Given the description of an element on the screen output the (x, y) to click on. 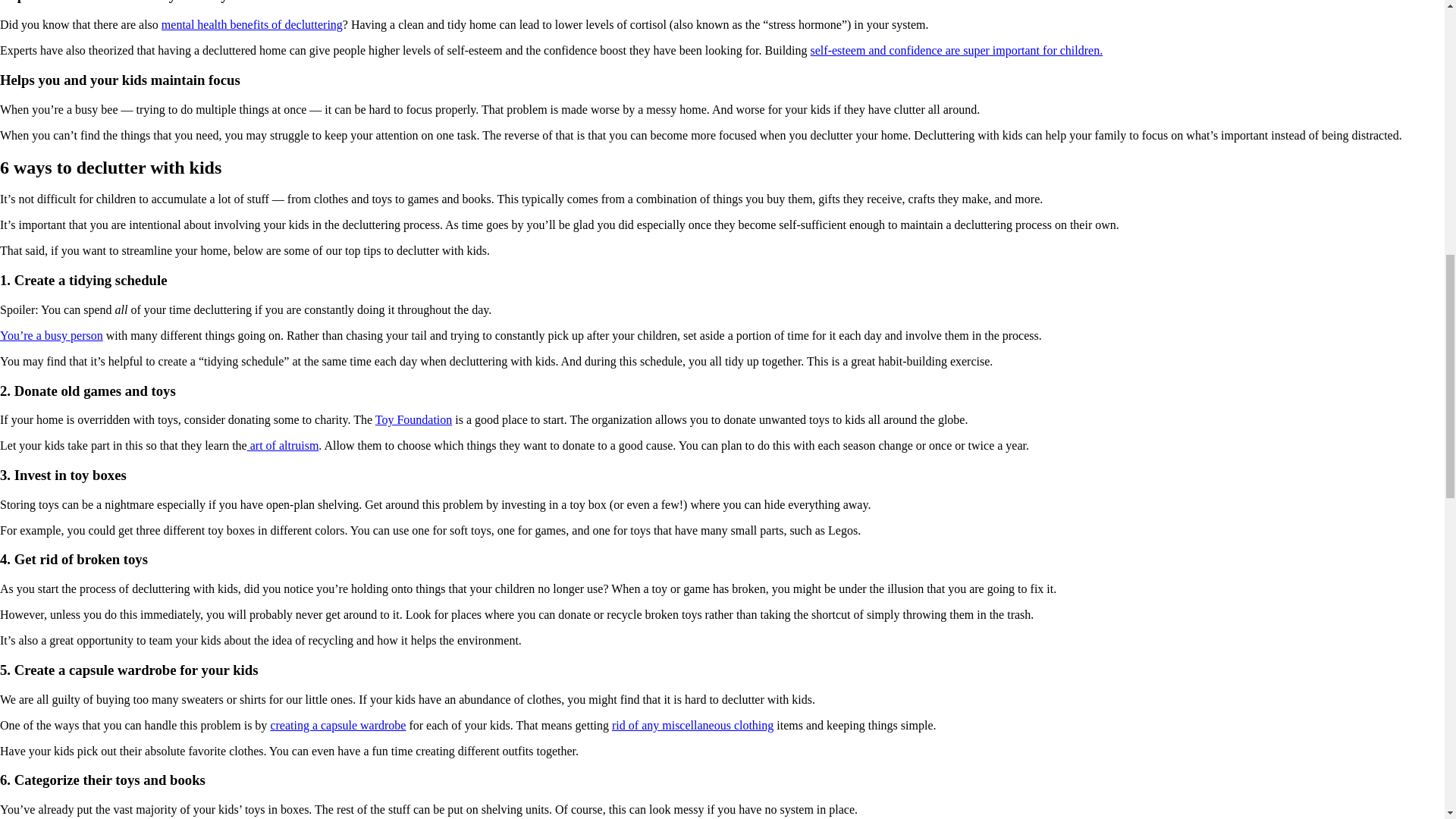
Toy Foundation (413, 419)
rid of any miscellaneous clothing (692, 725)
creating a capsule wardrobe (337, 725)
art of altruism (282, 445)
self-esteem and confidence are super important for children. (956, 50)
mental health benefits of decluttering (251, 24)
